Given the description of an element on the screen output the (x, y) to click on. 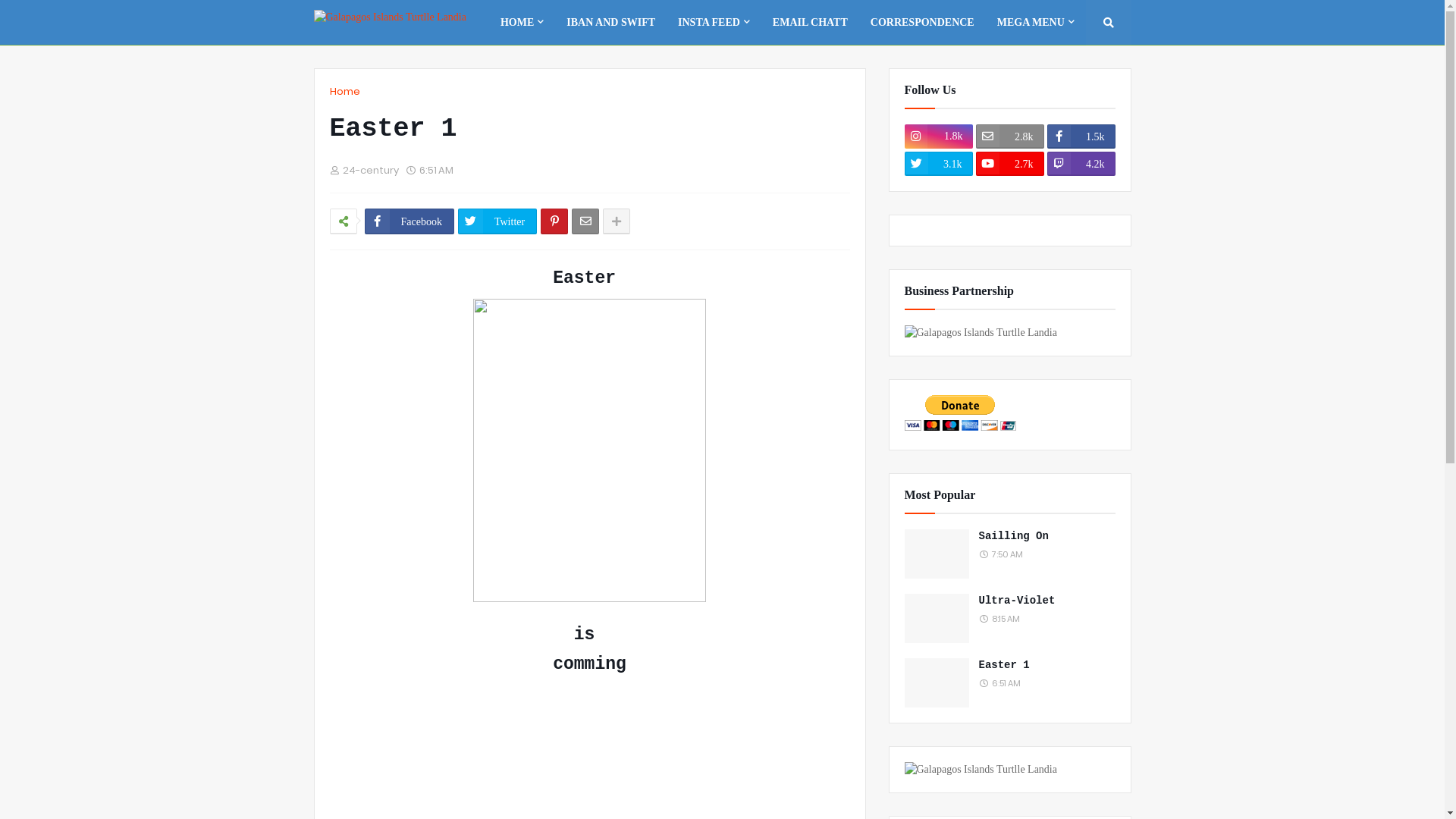
Facebook Element type: text (408, 221)
3.1k Element type: text (937, 163)
Home Element type: text (344, 91)
Ultra-Violet Element type: text (1046, 600)
CORRESPONDENCE Element type: text (922, 22)
HOME Element type: text (522, 22)
Email Element type: hover (585, 221)
INSTA FEED Element type: text (713, 22)
2.7k Element type: text (1009, 163)
Sailling On Element type: text (1046, 536)
Twitter Element type: text (497, 221)
4.2k Element type: text (1080, 163)
2.8k Element type: text (1009, 136)
PayPal - The safer, easier way to pay online! Element type: hover (959, 412)
IBAN AND SWIFT Element type: text (610, 22)
1.8k Element type: text (937, 136)
1.5k Element type: text (1080, 136)
Pinterest Element type: hover (553, 221)
Easter 1 Element type: text (1046, 665)
EMAIL CHATT Element type: text (810, 22)
Ok Element type: text (1104, 67)
MEGA MENU Element type: text (1035, 22)
